Given the description of an element on the screen output the (x, y) to click on. 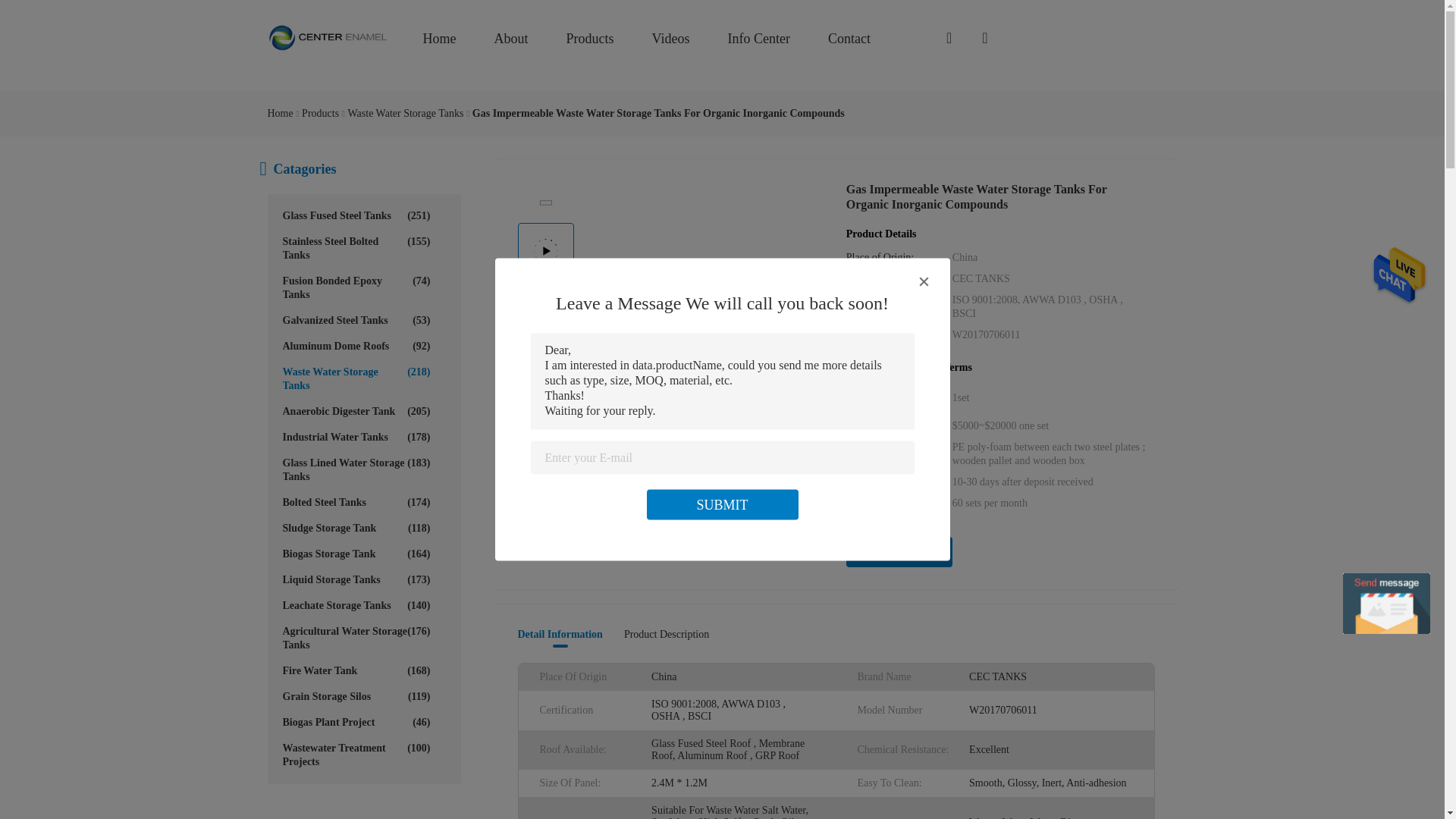
Products (589, 37)
Contact (849, 37)
Home (440, 37)
Info Center (757, 37)
About (511, 37)
Products (589, 37)
Shijiazhuang Zhengzhong Technology Co., Ltd (327, 37)
About Us (511, 37)
Home (440, 37)
Videos (671, 37)
